Given the description of an element on the screen output the (x, y) to click on. 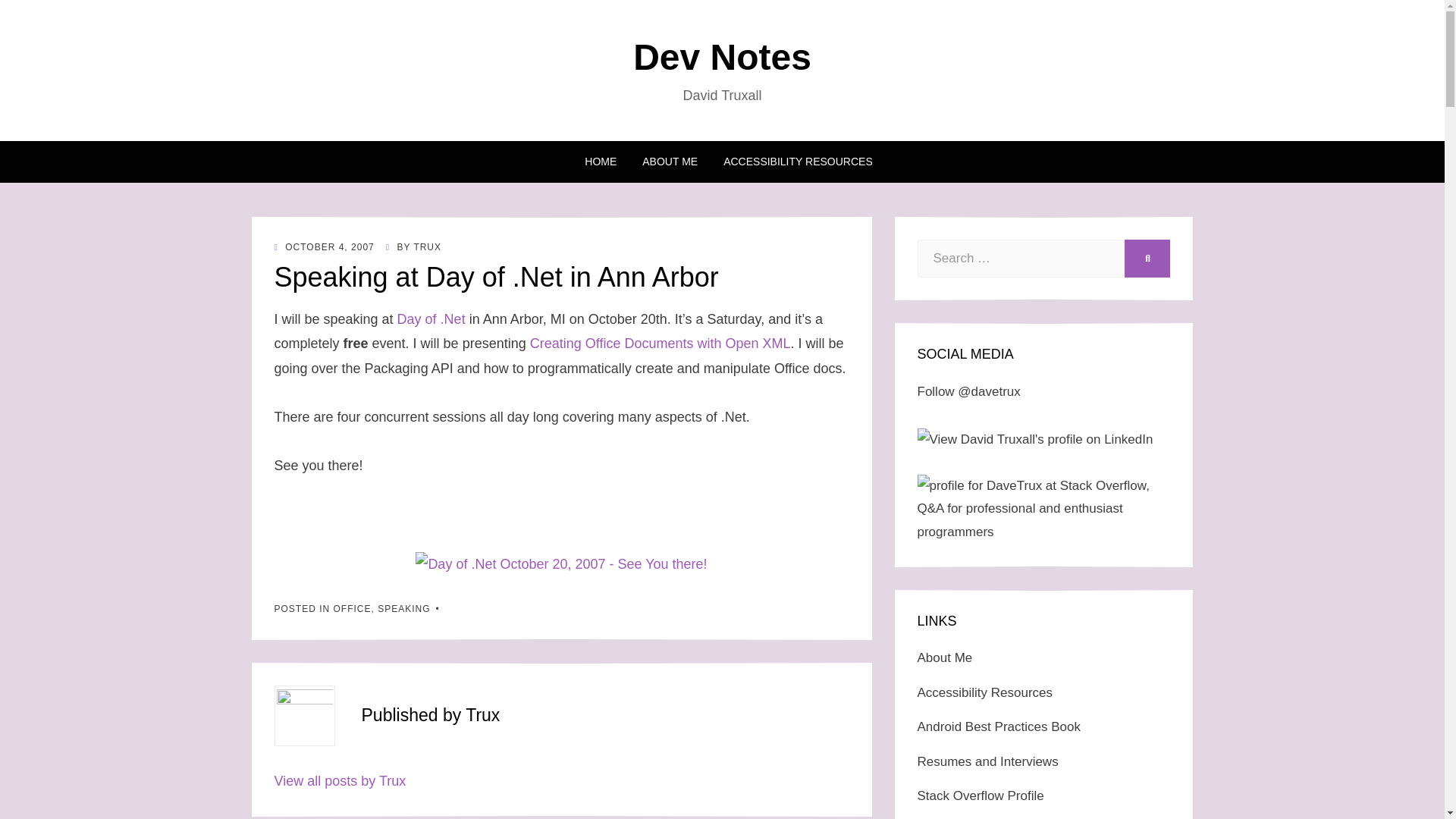
About Me (944, 657)
ACCESSIBILITY RESOURCES (791, 161)
Search for: (1021, 258)
Stack Overflow Profile (980, 795)
View all posts by Trux (340, 780)
TRUX (427, 246)
Resumes and Interviews (987, 761)
SEARCH (1147, 258)
Day of .Net (431, 319)
Android Best Practices Book (998, 726)
